Given the description of an element on the screen output the (x, y) to click on. 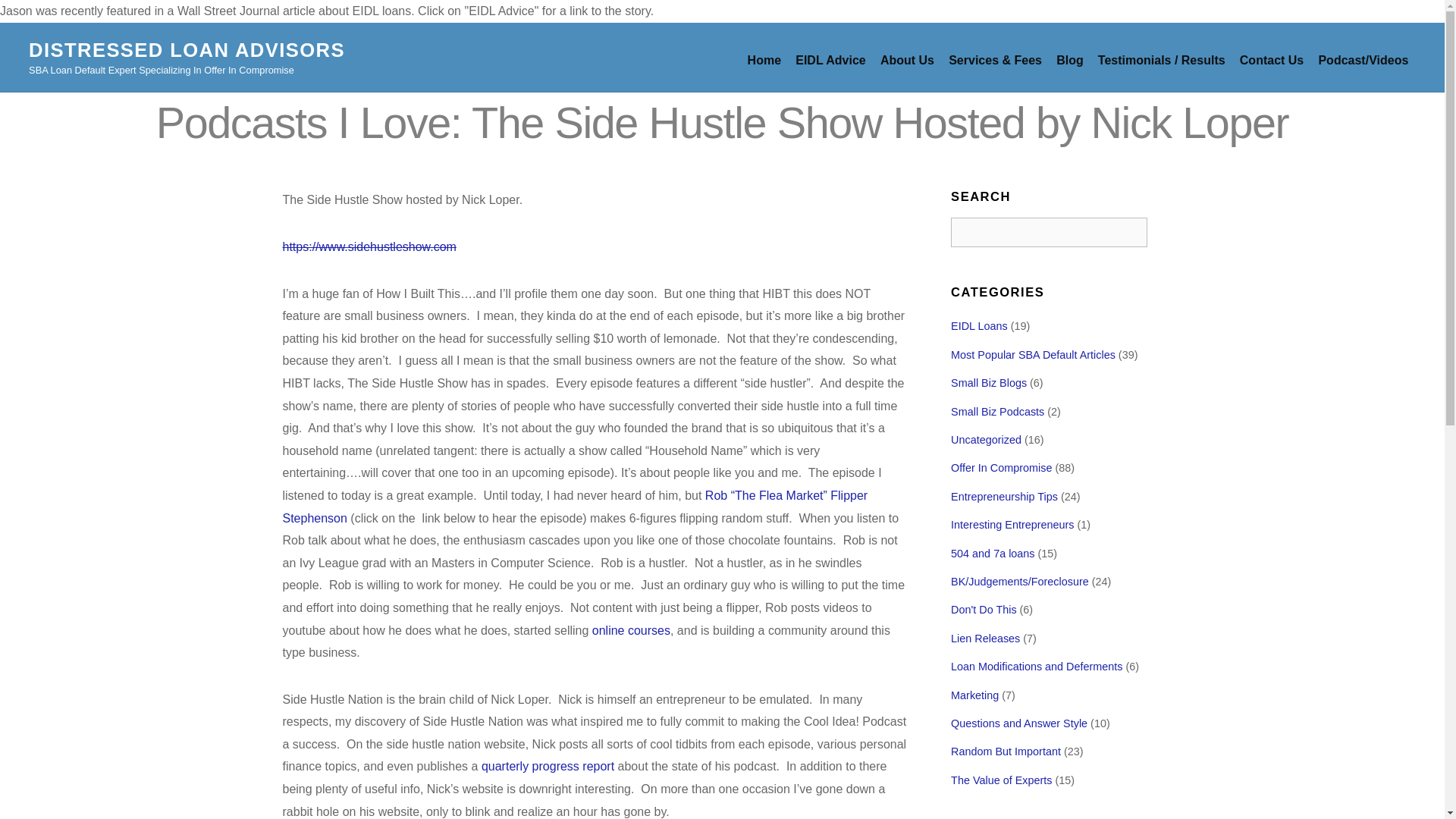
DISTRESSED LOAN ADVISORS (187, 49)
Don't Do This (983, 609)
Uncategorized (986, 439)
The Value of Experts (1000, 779)
EIDL Advice (831, 59)
Podcasts I Love: The Side Hustle Show Hosted by Nick Loper (721, 122)
About Us (906, 59)
EIDL Loans (978, 326)
Marketing (974, 695)
DISTRESSED LOAN ADVISORS (187, 49)
Articles related to marketing your small business (974, 695)
